Given the description of an element on the screen output the (x, y) to click on. 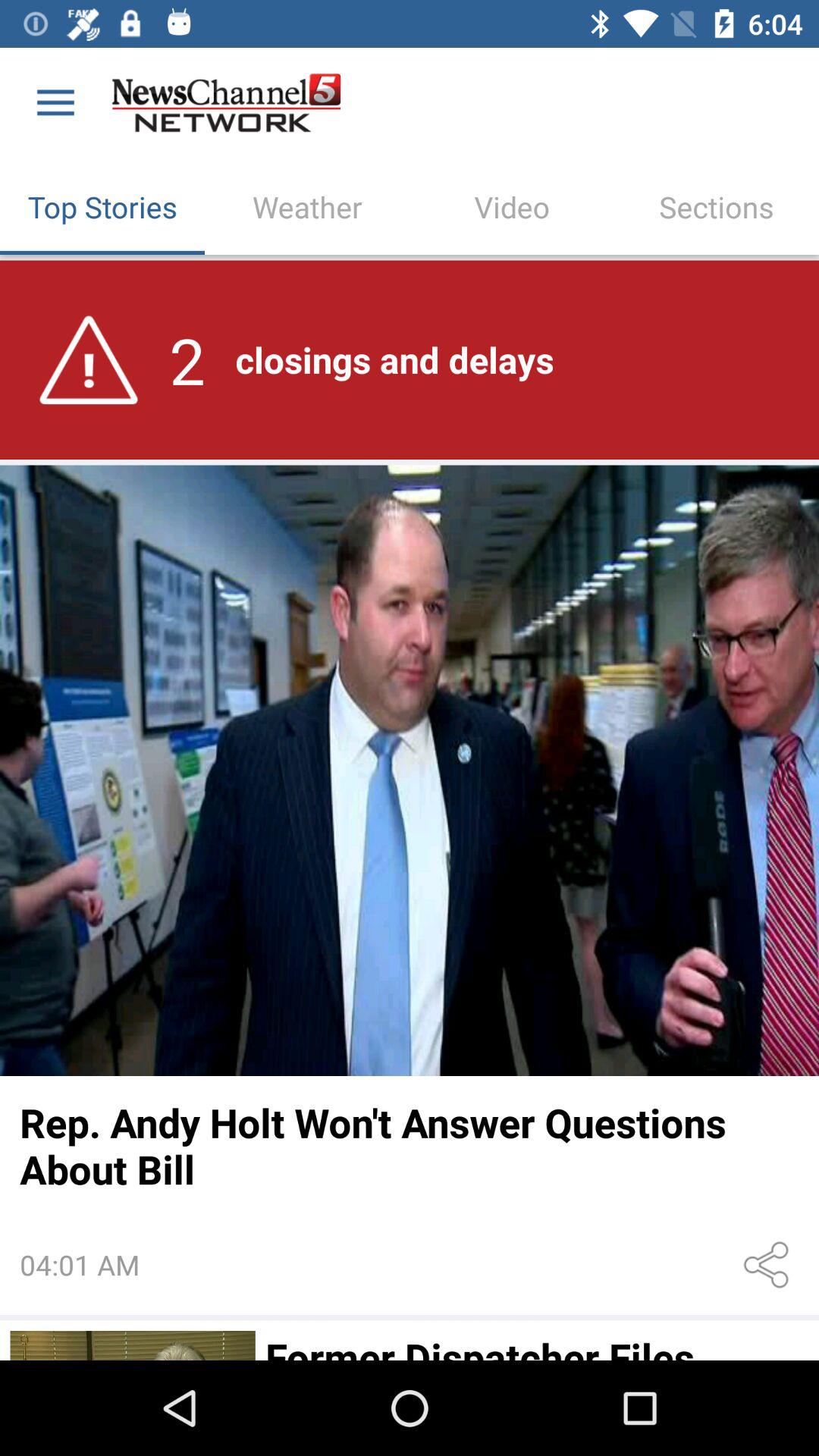
image button (409, 770)
